Given the description of an element on the screen output the (x, y) to click on. 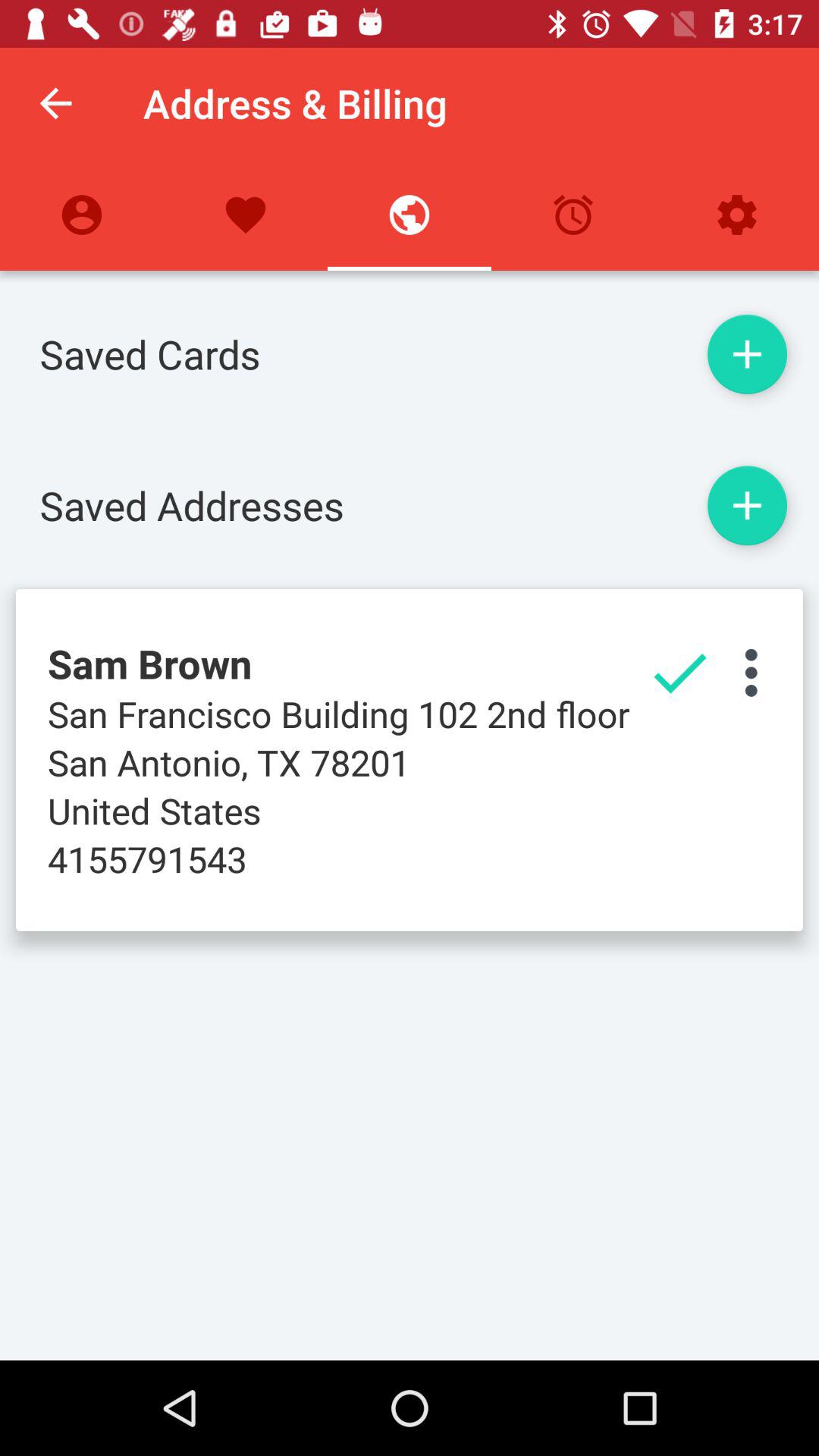
more options (751, 672)
